Given the description of an element on the screen output the (x, y) to click on. 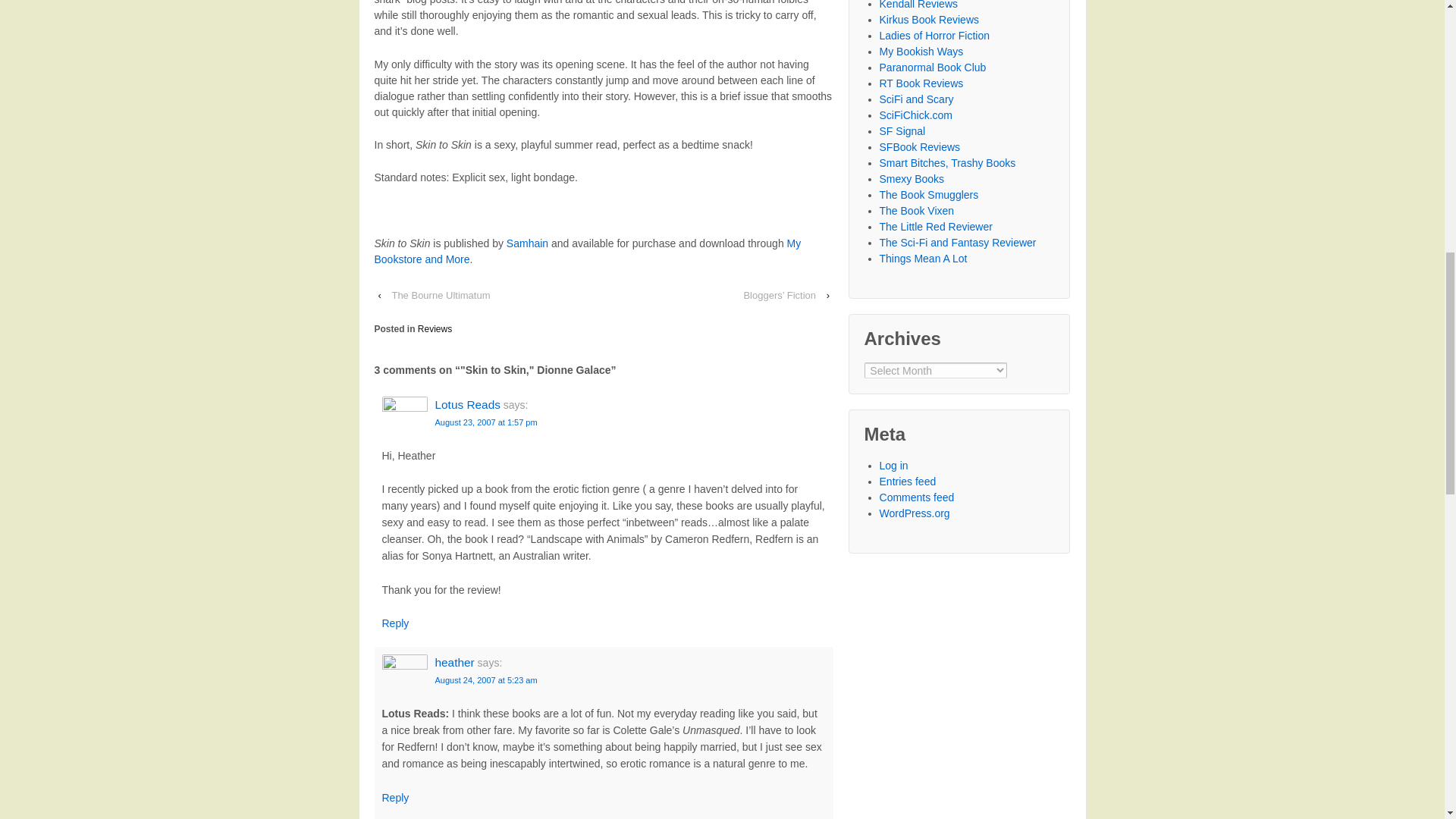
Reply (395, 623)
August 24, 2007 at 5:23 am (486, 679)
Reviews (434, 328)
The Bourne Ultimatum (440, 294)
heather (454, 662)
My Bookstore and More (588, 251)
Lotus Reads (467, 404)
August 23, 2007 at 1:57 pm (486, 421)
Reply (395, 797)
Samhain (527, 243)
